Given the description of an element on the screen output the (x, y) to click on. 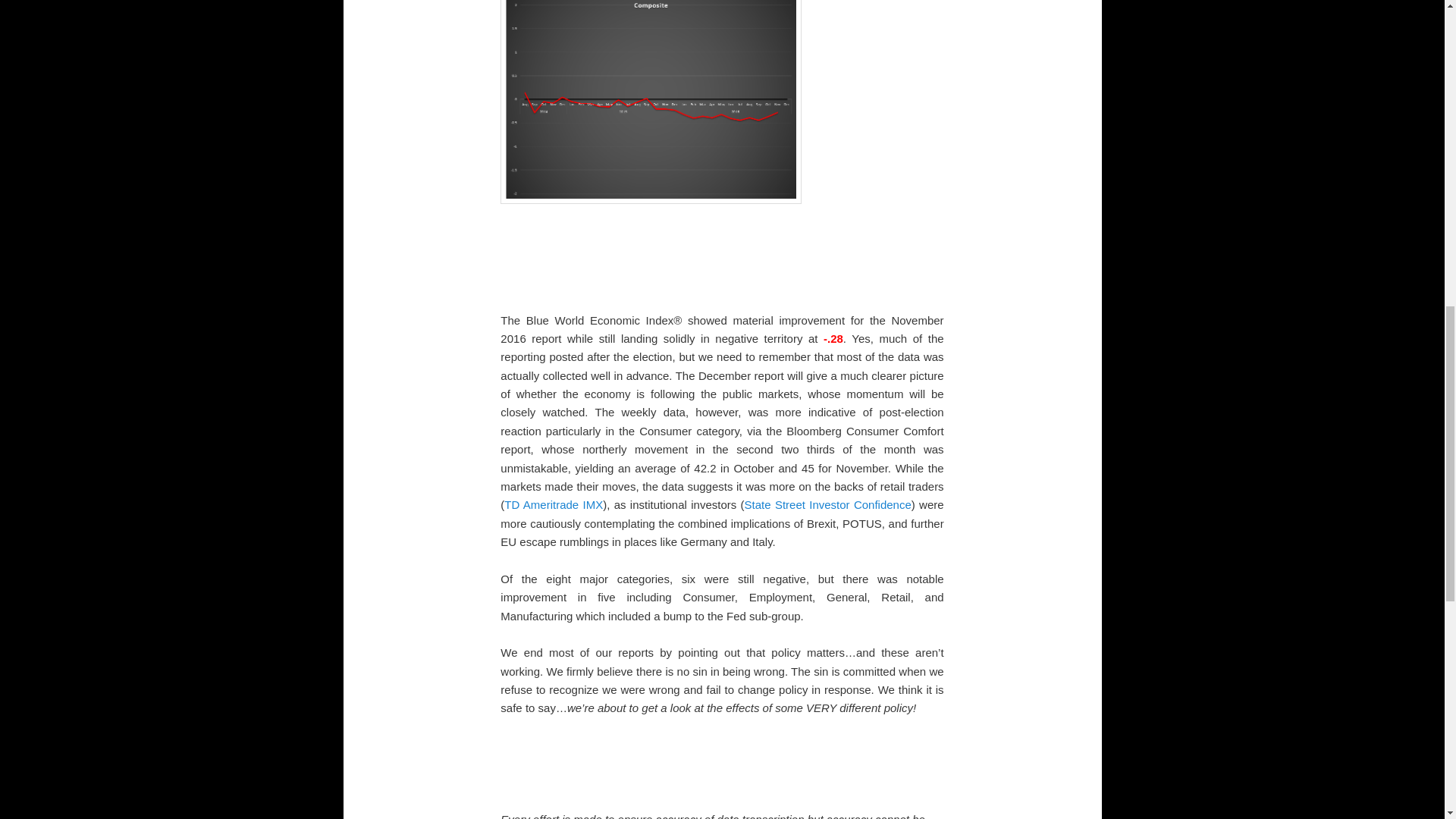
State Street Investor Confidence (827, 504)
TD Ameritrade IMX (552, 504)
